Given the description of an element on the screen output the (x, y) to click on. 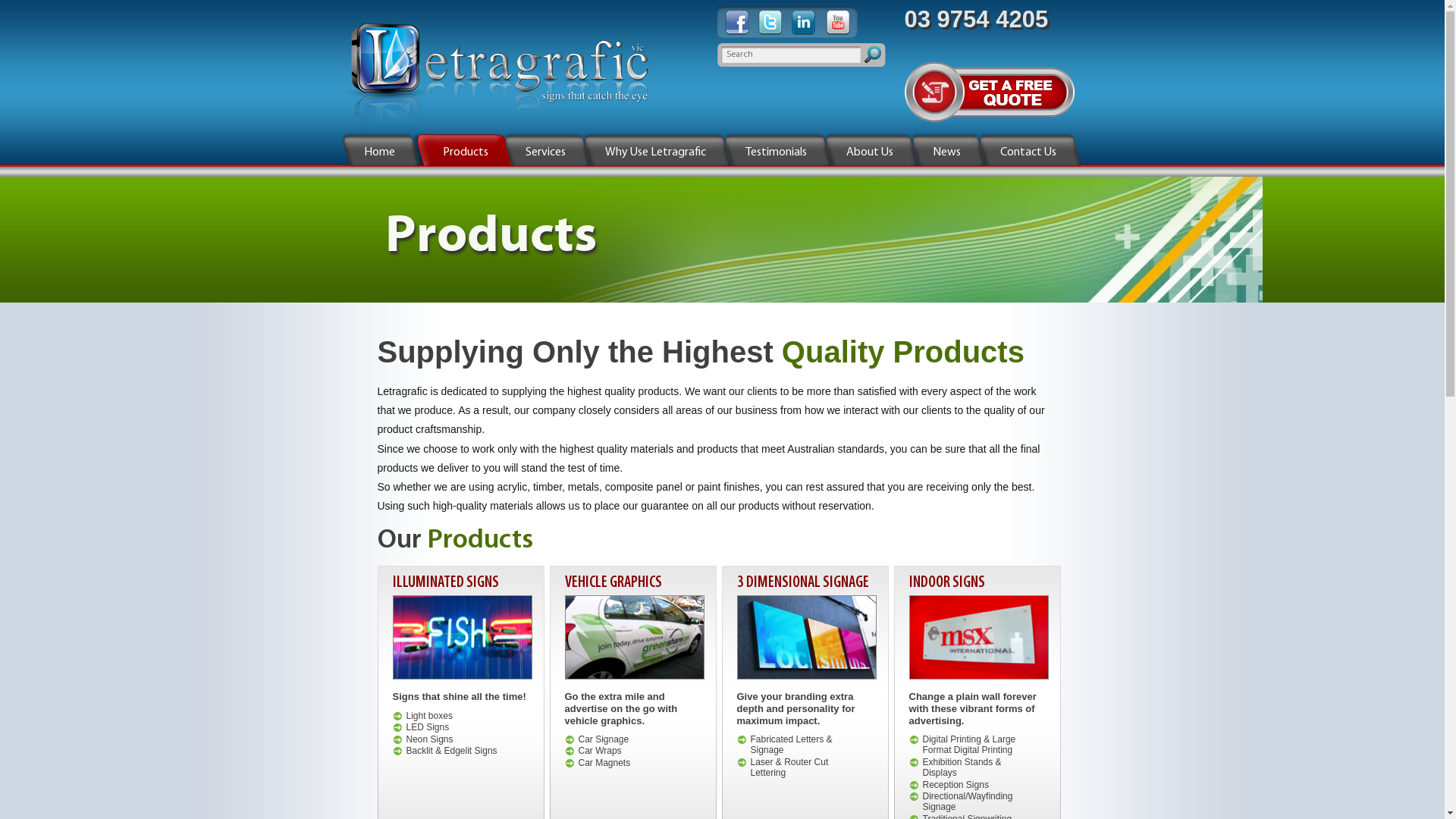
Internal Element type: hover (978, 637)
Home Element type: text (379, 152)
News Element type: text (946, 152)
Digital Printing & Large Format Digital Printing Element type: text (968, 744)
Directional/Wayfinding
Signage Element type: text (967, 801)
Fabricated Letters &
Signage Element type: text (791, 744)
About Us Element type: text (869, 152)
Services Element type: text (544, 152)
Backlit & Edgelit Signs Element type: text (451, 750)
VEHICLE GRAPHICS Element type: text (612, 582)
Car Wraps Element type: text (599, 750)
Car Magnets Element type: text (603, 762)
3 DIMENSIONAL SIGNAGE Element type: text (803, 582)
INDOOR SIGNS Element type: text (946, 582)
Why Use Letragrafic Element type: text (655, 152)
Contact Us Element type: text (1027, 152)
Testimonials Element type: text (775, 152)
Car Signage Element type: text (602, 739)
Vehicle-Graphics Element type: hover (633, 637)
Light boxes Element type: text (429, 715)
Neon Signs Element type: text (429, 739)
Products Element type: text (465, 152)
LED Signs Element type: text (427, 726)
Laser & Router Cut
Lettering Element type: text (789, 767)
Reception Signs Element type: text (955, 784)
ILLUMINATED SIGNS Element type: text (445, 582)
3-Dimensional Element type: hover (806, 637)
Illuminated Element type: hover (462, 637)
Exhibition Stands &
Displays Element type: text (961, 767)
